Given the description of an element on the screen output the (x, y) to click on. 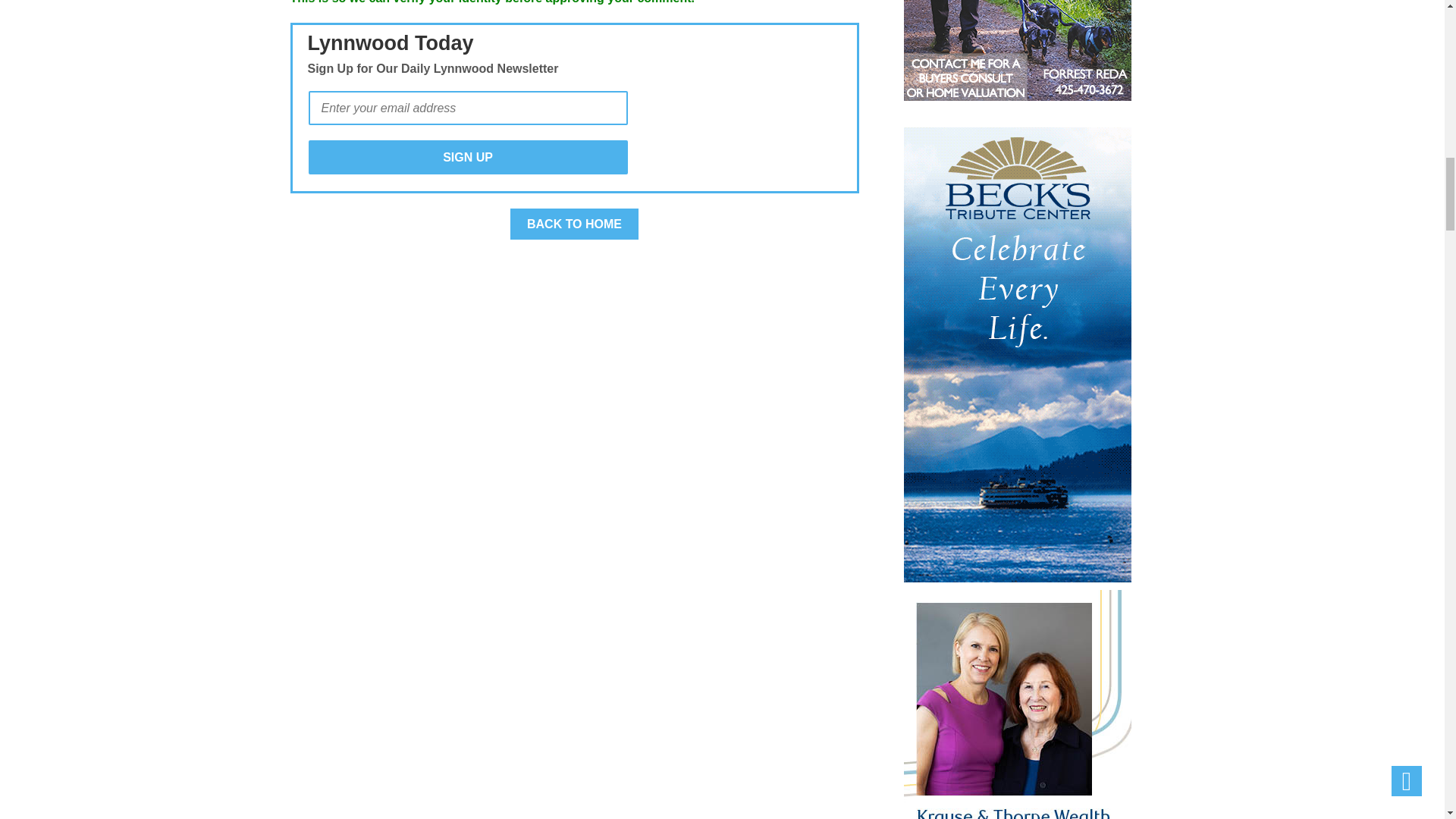
Sign Up (467, 157)
